Given the description of an element on the screen output the (x, y) to click on. 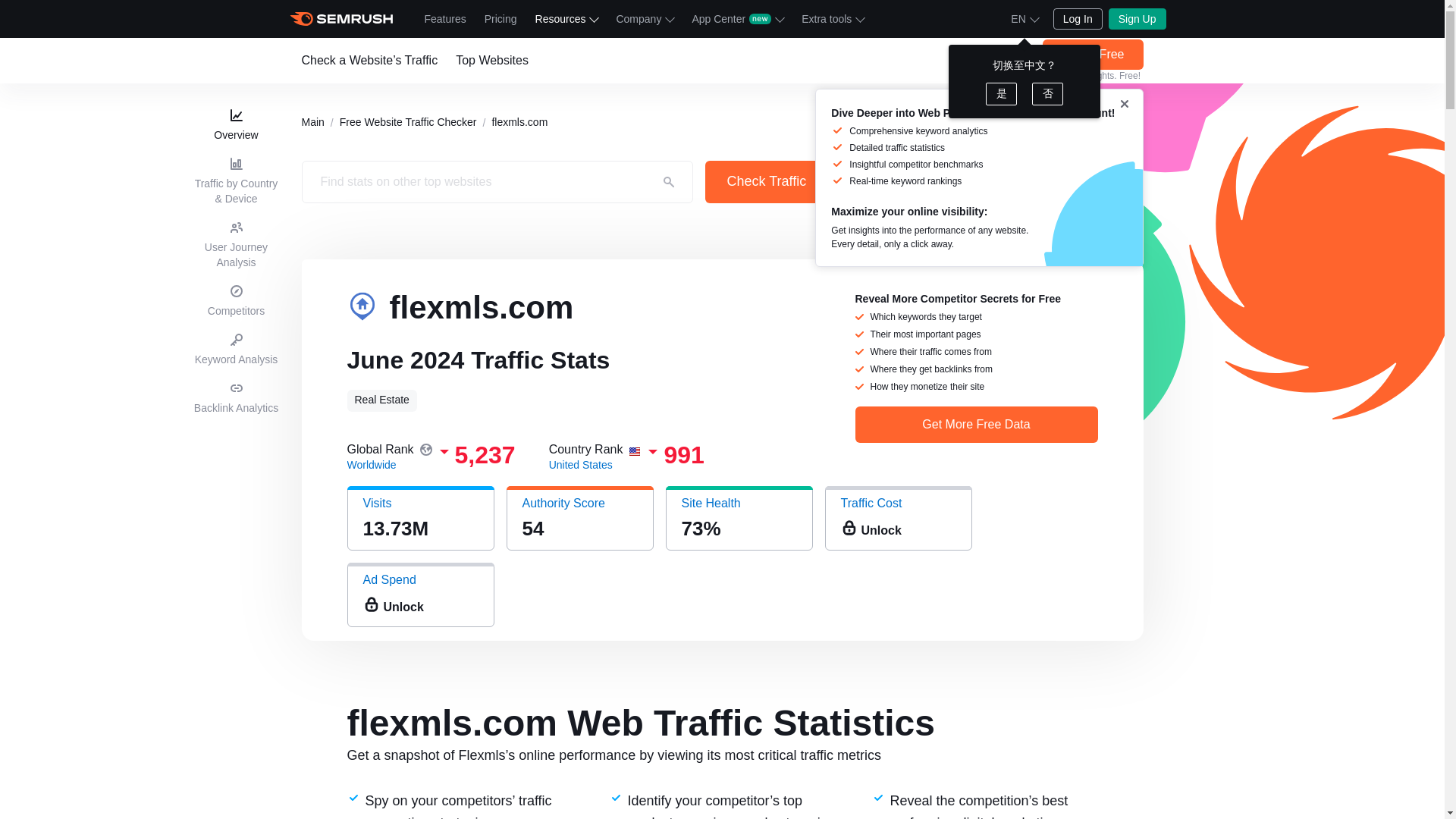
Extra tools (832, 18)
Resources (566, 18)
Features (445, 18)
Company (644, 18)
App Center (737, 18)
Pricing (500, 18)
